Given the description of an element on the screen output the (x, y) to click on. 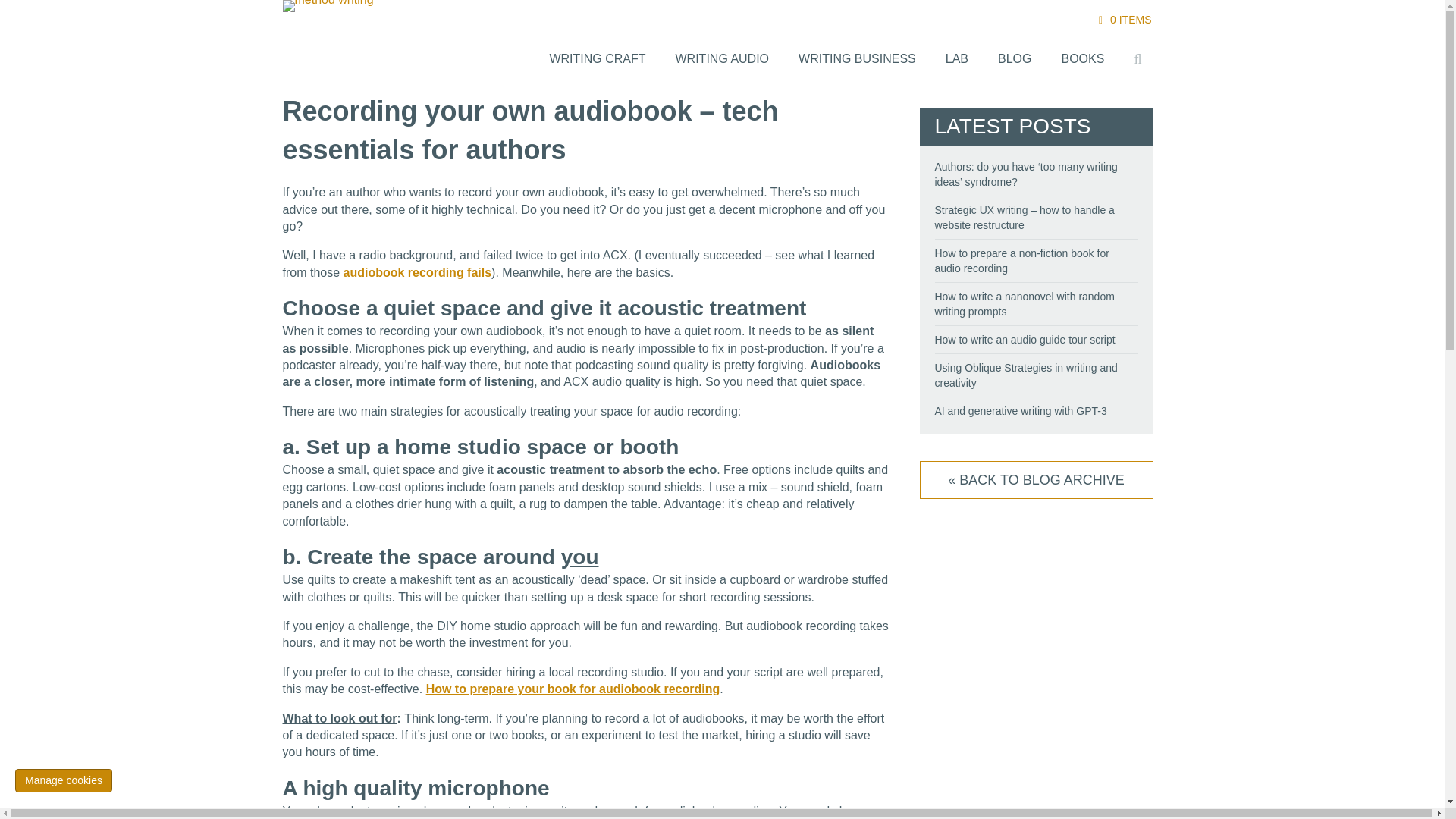
BOOKS (1082, 58)
LAB (956, 58)
WRITING AUDIO (722, 58)
audiobook recording fails (417, 272)
SEARCH (1140, 58)
method writing (327, 6)
How to prepare a non-fiction book for audio recording (1021, 260)
WRITING BUSINESS (857, 58)
How to write an audio guide tour script (1024, 339)
WRITING CRAFT (596, 58)
